Given the description of an element on the screen output the (x, y) to click on. 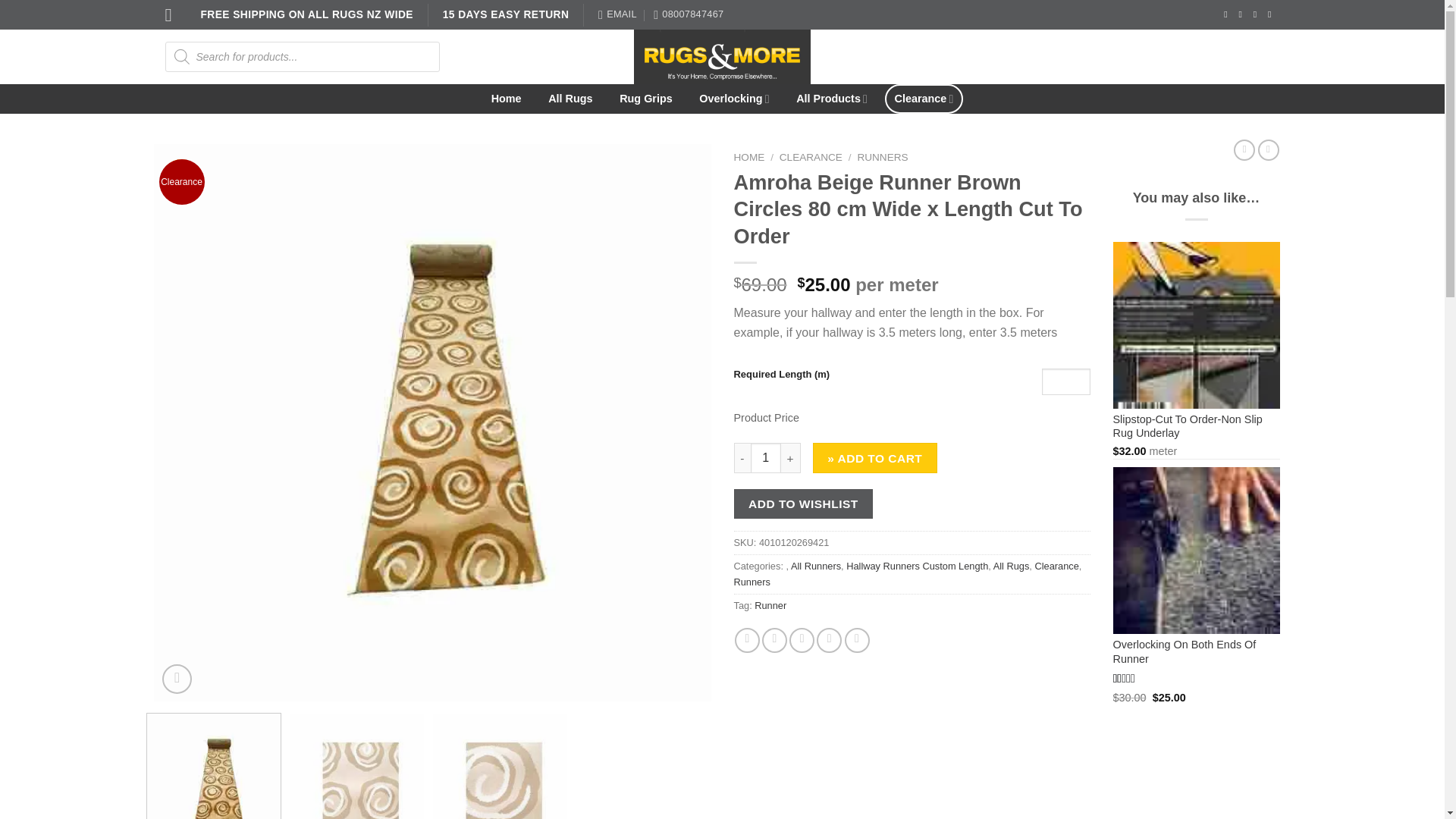
Follow on Instagram (1243, 14)
15 DAYS EASY RETURN (506, 14)
EMAIL (617, 14)
Overlocking (734, 98)
Zoom (176, 678)
08007847467 (688, 14)
All Products (831, 98)
All Rugs (570, 98)
Login (1130, 56)
FREE SHIPPING ON ALL RUGS NZ WIDE (306, 14)
Follow on Facebook (1228, 14)
08007847467 (688, 14)
Follow on Twitter (1257, 14)
WISHLIST (1033, 56)
1 (765, 458)
